Given the description of an element on the screen output the (x, y) to click on. 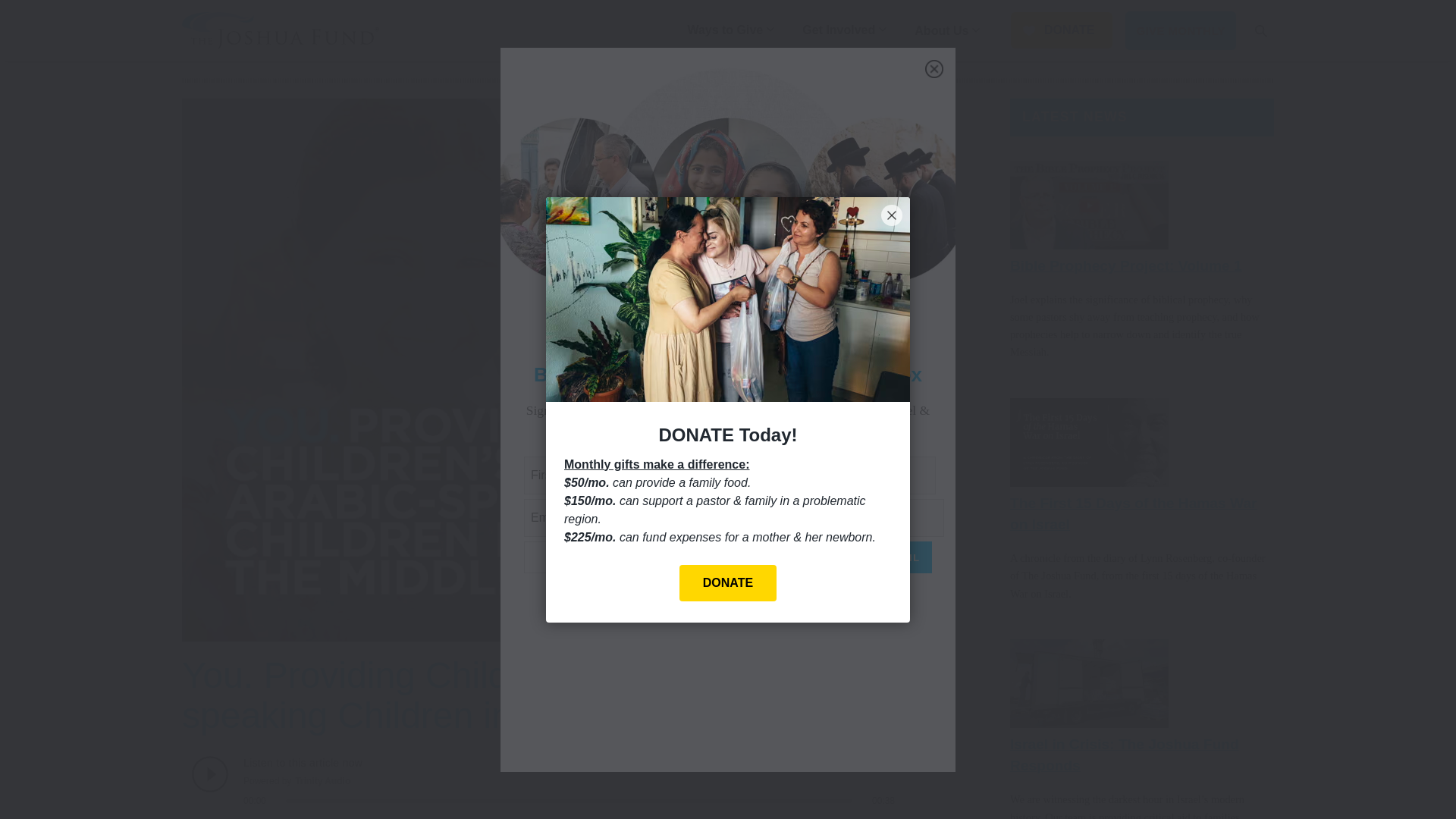
The First 15 Days of the Hamas War on Israel (1133, 513)
Get Our Email (870, 557)
Israel in Crisis: The Joshua Fund Responds (1124, 754)
Trinity Audio Player (543, 781)
Donate Button (1060, 30)
Bible Prophecy Project: Volume 1 (1125, 265)
GIVE MONTHLY (1180, 30)
